Given the description of an element on the screen output the (x, y) to click on. 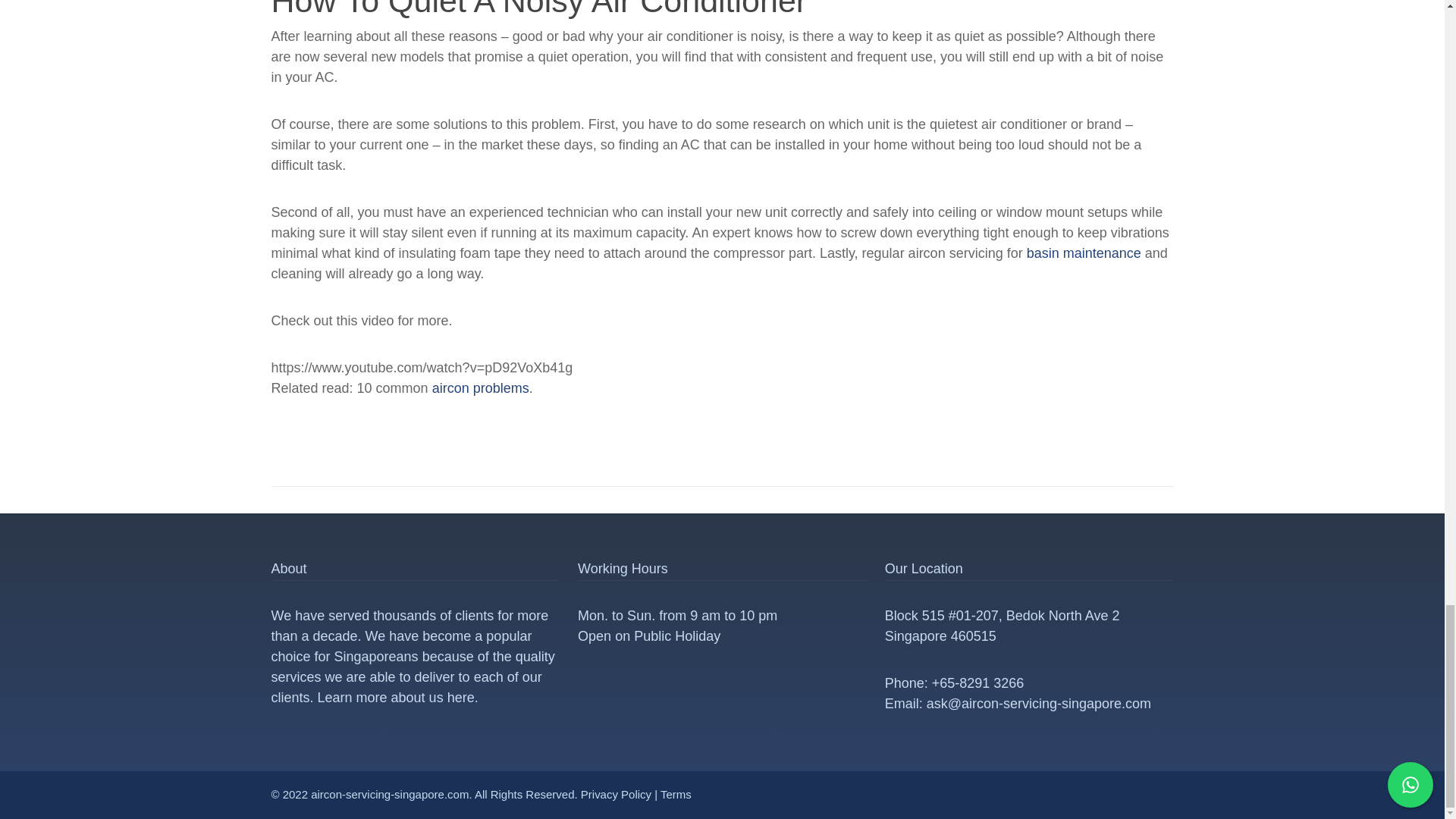
aircon problems (480, 387)
basin maintenance (1083, 253)
Terms (676, 793)
Privacy Policy (615, 793)
here (460, 697)
